Given the description of an element on the screen output the (x, y) to click on. 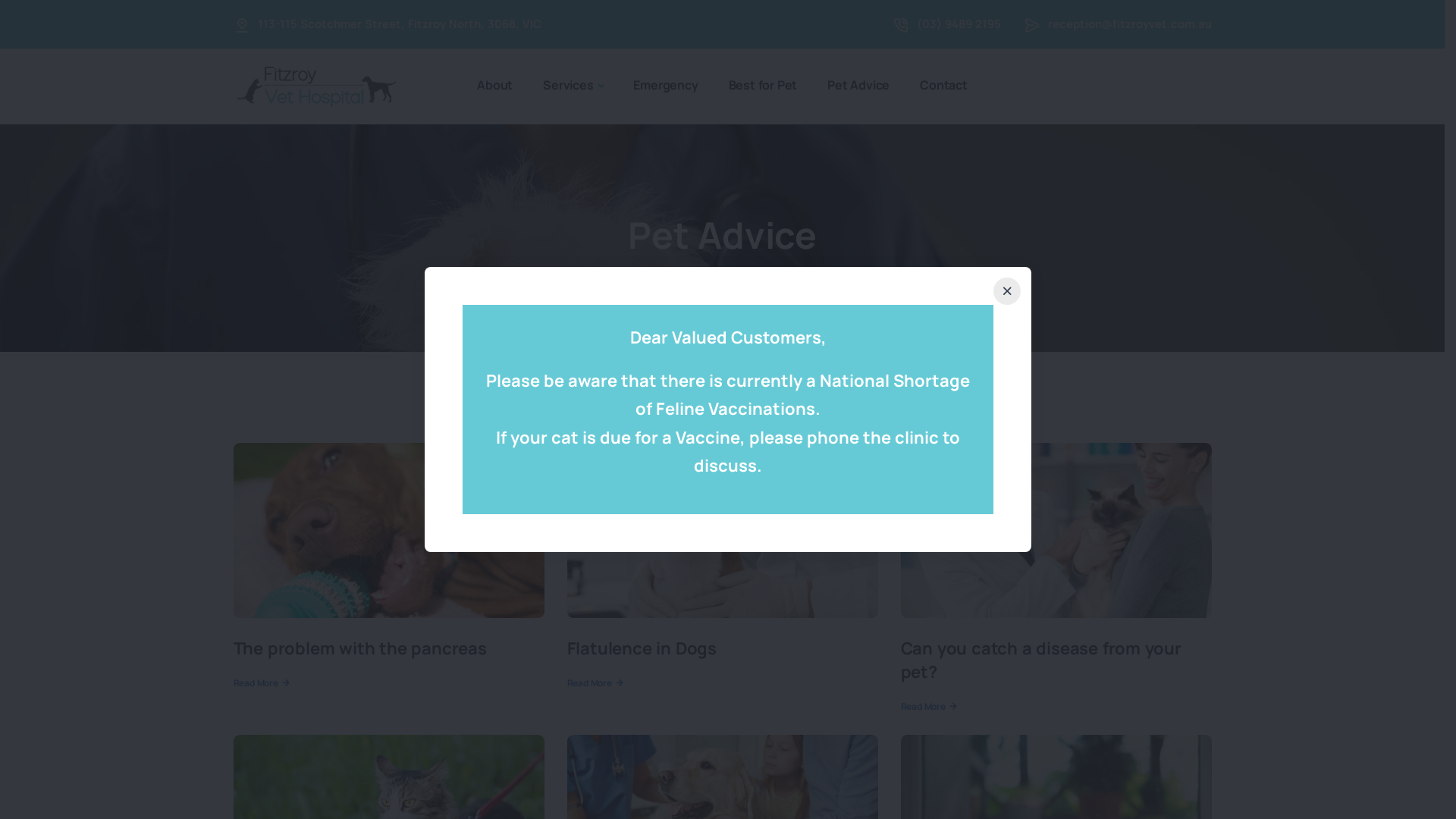
113-115 Scotchmer Street, Fitzroy North, 3068, VIC Element type: text (399, 23)
Read More Element type: text (260, 682)
Services Element type: text (572, 86)
Pet Advice Element type: text (858, 84)
Emergency Element type: text (665, 84)
Flatulence in Dogs Element type: text (641, 648)
About Element type: text (494, 84)
Read More Element type: text (928, 706)
reception@fitzroyvet.com.au Element type: text (1129, 23)
Contact Element type: text (943, 84)
Can you catch a disease from your pet? Element type: text (1040, 660)
Best for Pet Element type: text (762, 84)
(03) 9489 2195 Element type: text (958, 23)
Read More Element type: text (594, 682)
The problem with the pancreas Element type: text (359, 648)
